Given the description of an element on the screen output the (x, y) to click on. 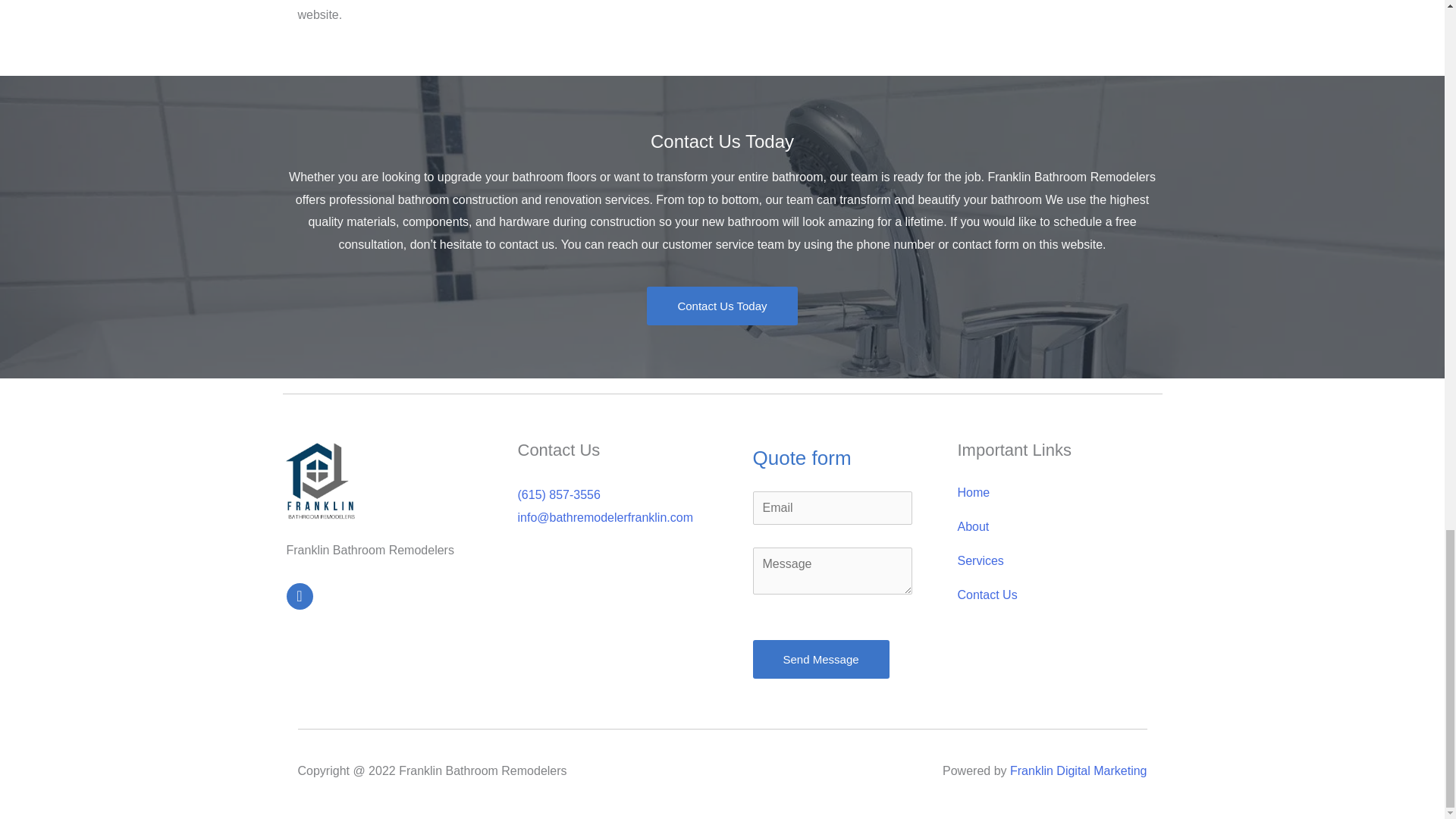
Home (1046, 492)
Franklin (320, 481)
Send Message (820, 658)
About (1046, 526)
Contact Us (1046, 594)
Contact Us Today (721, 305)
Franklin Digital Marketing (1078, 770)
Services (1046, 561)
